Given the description of an element on the screen output the (x, y) to click on. 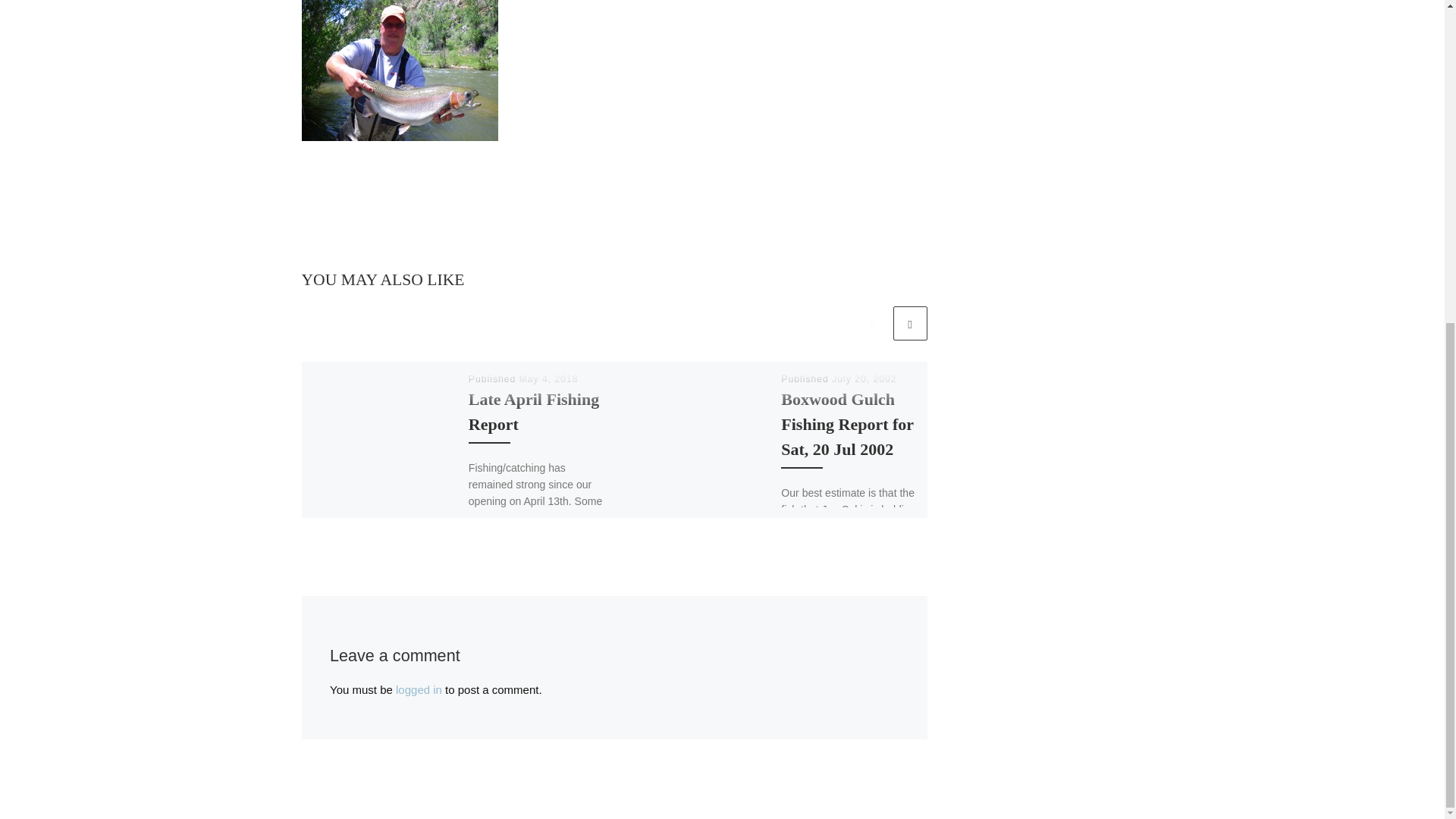
Next related articles (910, 323)
Previous related articles (872, 323)
